Given the description of an element on the screen output the (x, y) to click on. 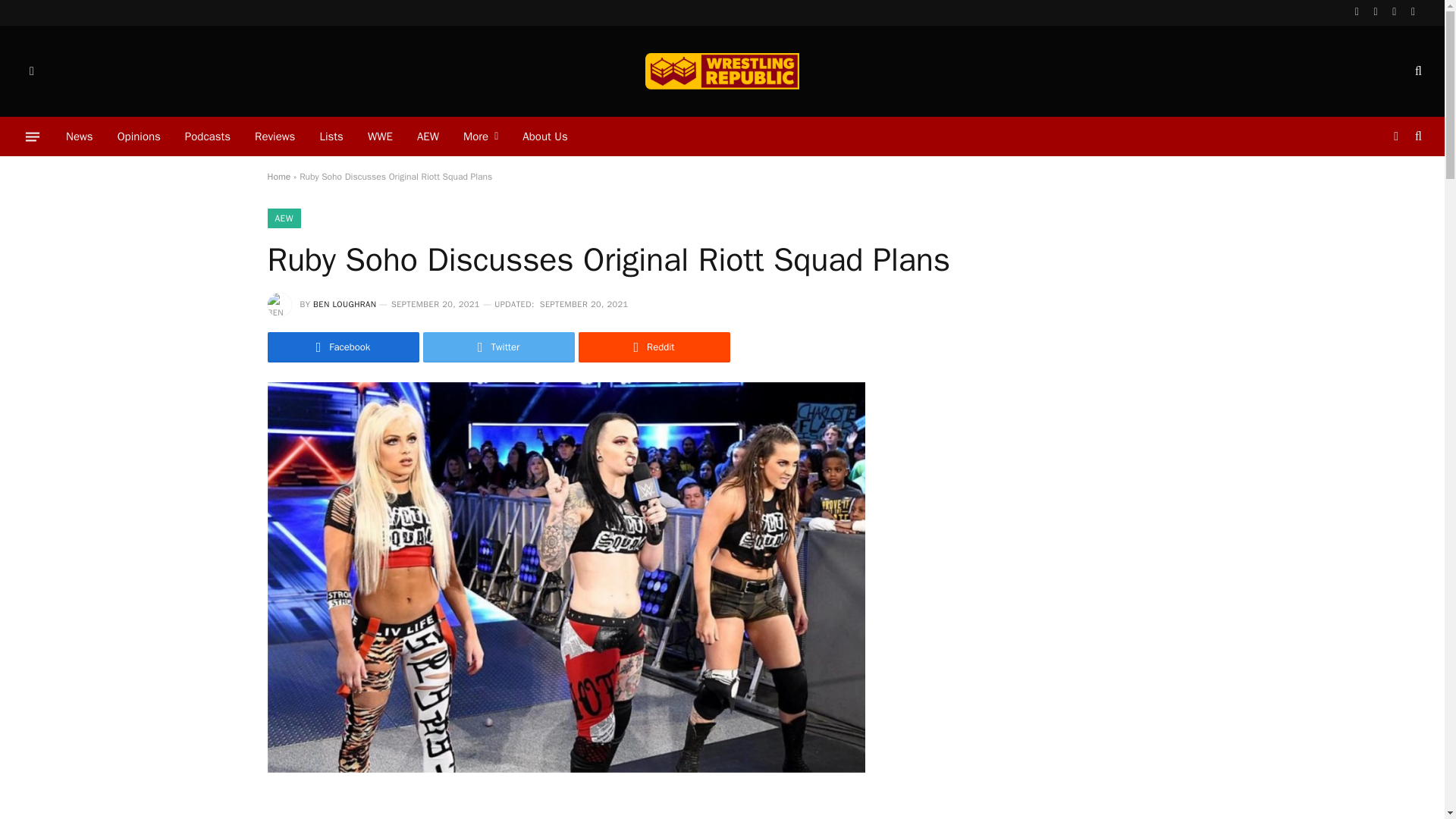
News (78, 136)
More (481, 136)
WWE (379, 136)
Podcasts (208, 136)
Posts by Ben Loughran (344, 303)
AEW (427, 136)
Switch to Dark Design - easier on eyes. (1396, 136)
Wrestling Republic (721, 71)
Home (277, 176)
Share on Reddit (653, 347)
Share on Facebook (342, 347)
AEW (282, 218)
Reviews (275, 136)
Switch to Dark Design - easier on eyes. (30, 70)
